Given the description of an element on the screen output the (x, y) to click on. 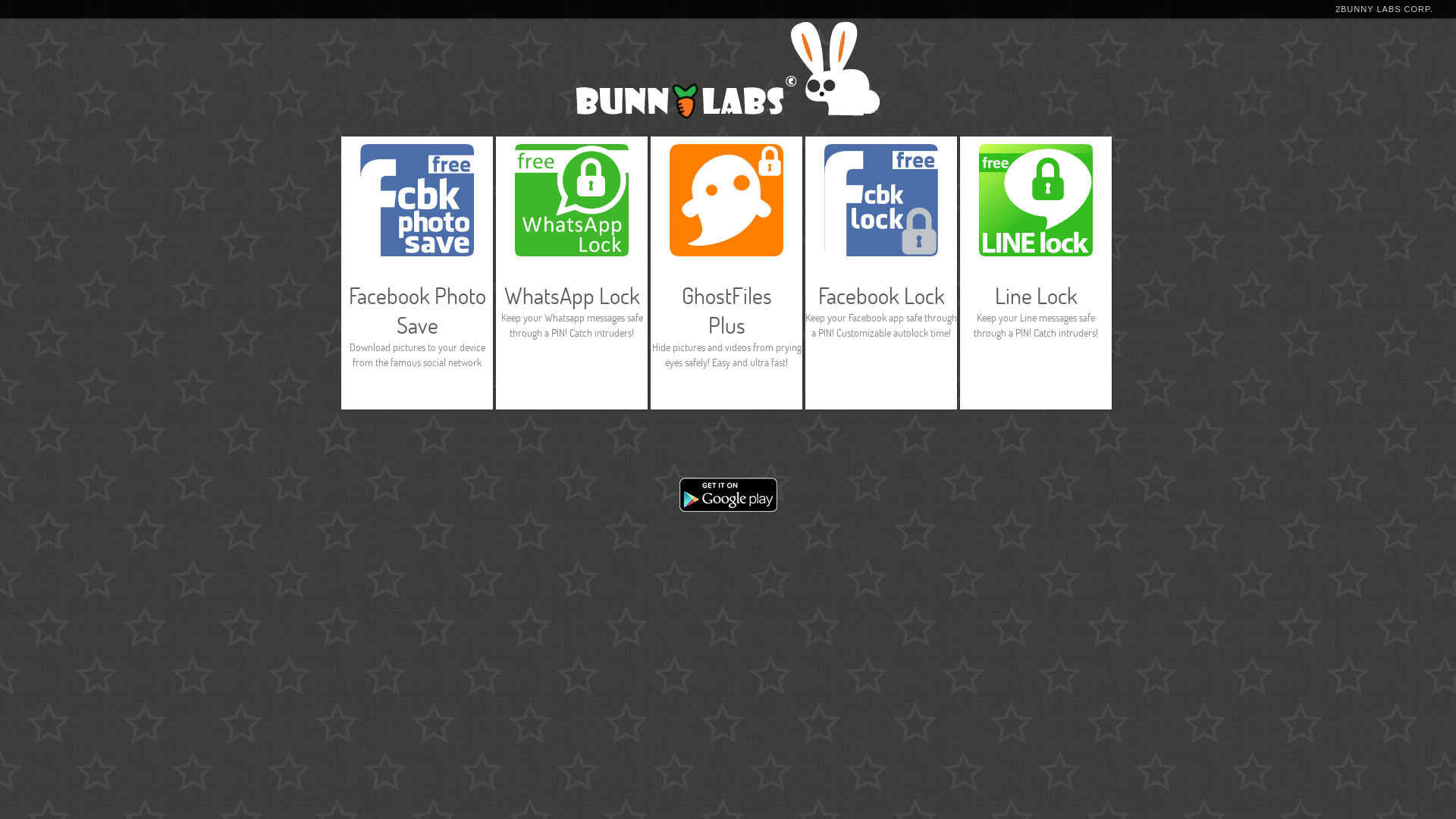
2BUNNY LABS CORP. Element type: text (1383, 8)
